Given the description of an element on the screen output the (x, y) to click on. 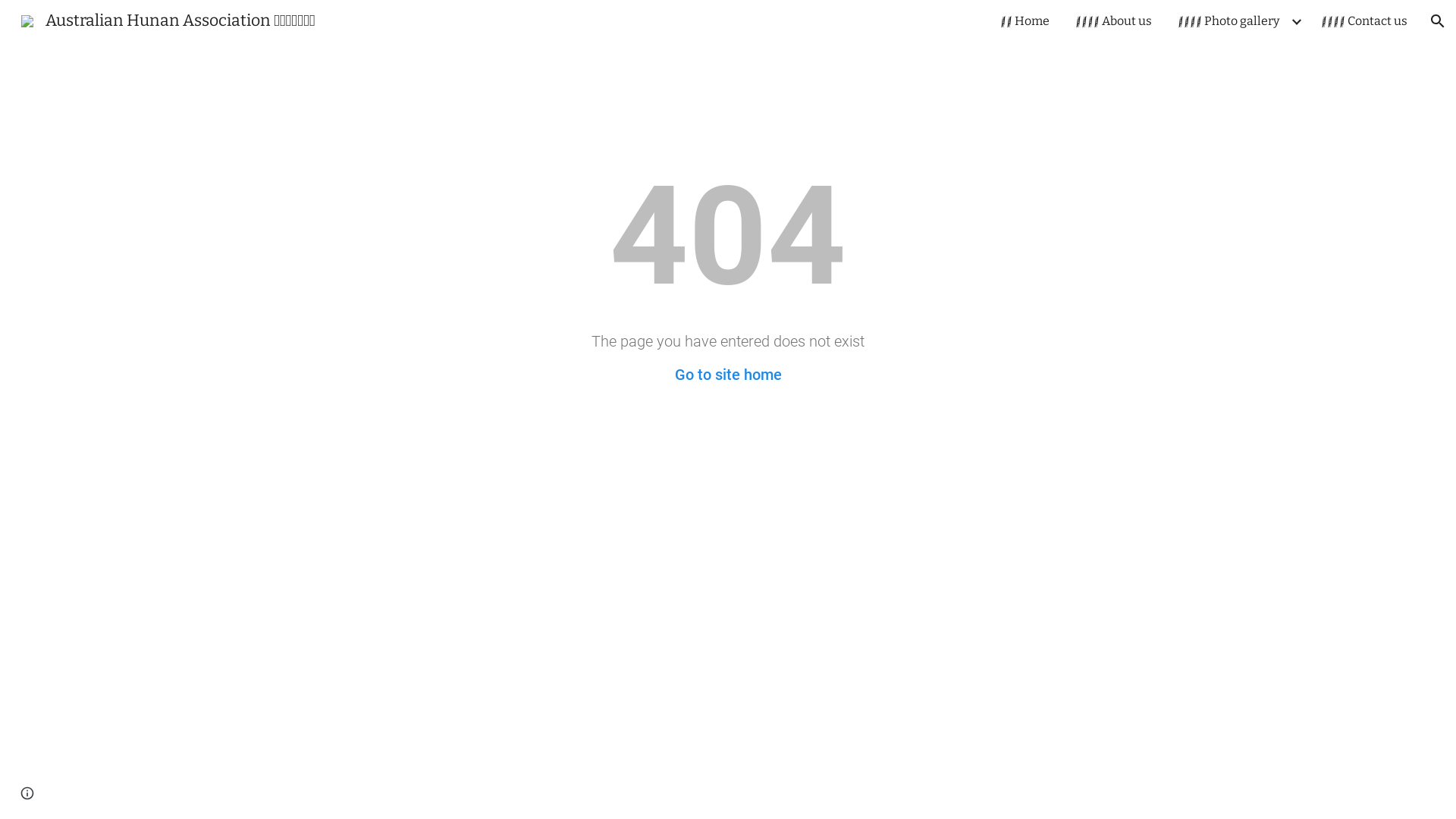
Go to site home Element type: text (727, 374)
Expand/Collapse Element type: hover (1295, 20)
